Given the description of an element on the screen output the (x, y) to click on. 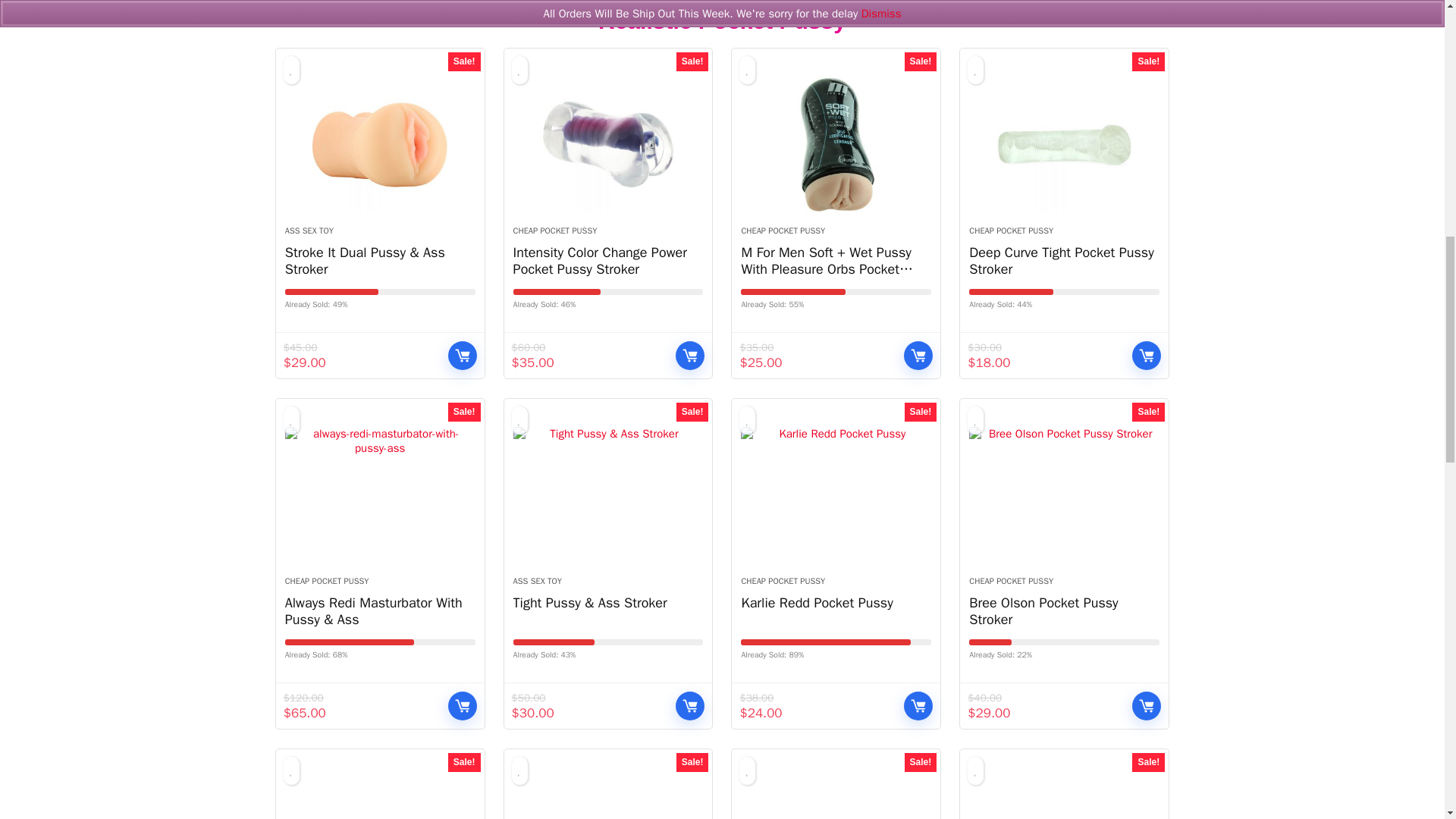
PDX Plus Perfect Pocket Pussy Pleasure Stroker (836, 798)
ASS SEX TOY (309, 230)
Karlie Redd Pocket Pussy (836, 494)
Intensity Color Change Power Pocket Pussy Stroker (608, 144)
Jenna Fox Pocket Pussy Stroker (608, 798)
Bree Olson Pocket Pussy Stroker (1063, 494)
Intensity Color Change Power Pocket Pussy Stroker (600, 260)
SELECT OPTIONS (689, 355)
PDX Plus Perfect Pocket Pussy XTC Stroker (1063, 798)
Kesha Grey Pocket Pussy Stroker (380, 798)
CHEAP POCKET PUSSY (783, 230)
Deep Curve Tight Pocket Pussy Stroker (1063, 144)
CHEAP POCKET PUSSY (554, 230)
SELECT OPTIONS (462, 355)
